Given the description of an element on the screen output the (x, y) to click on. 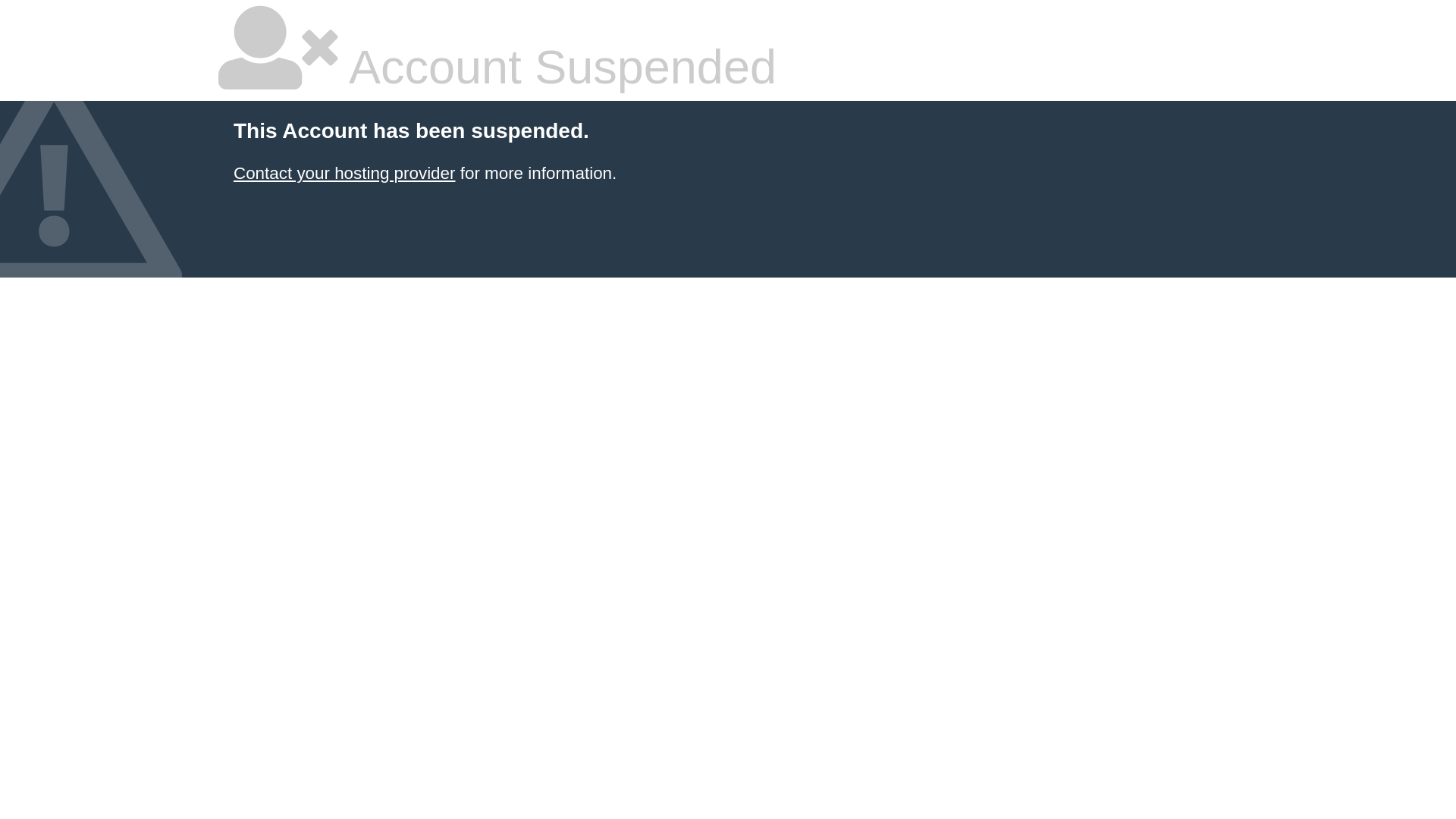
Contact your hosting provider Element type: text (344, 172)
